Given the description of an element on the screen output the (x, y) to click on. 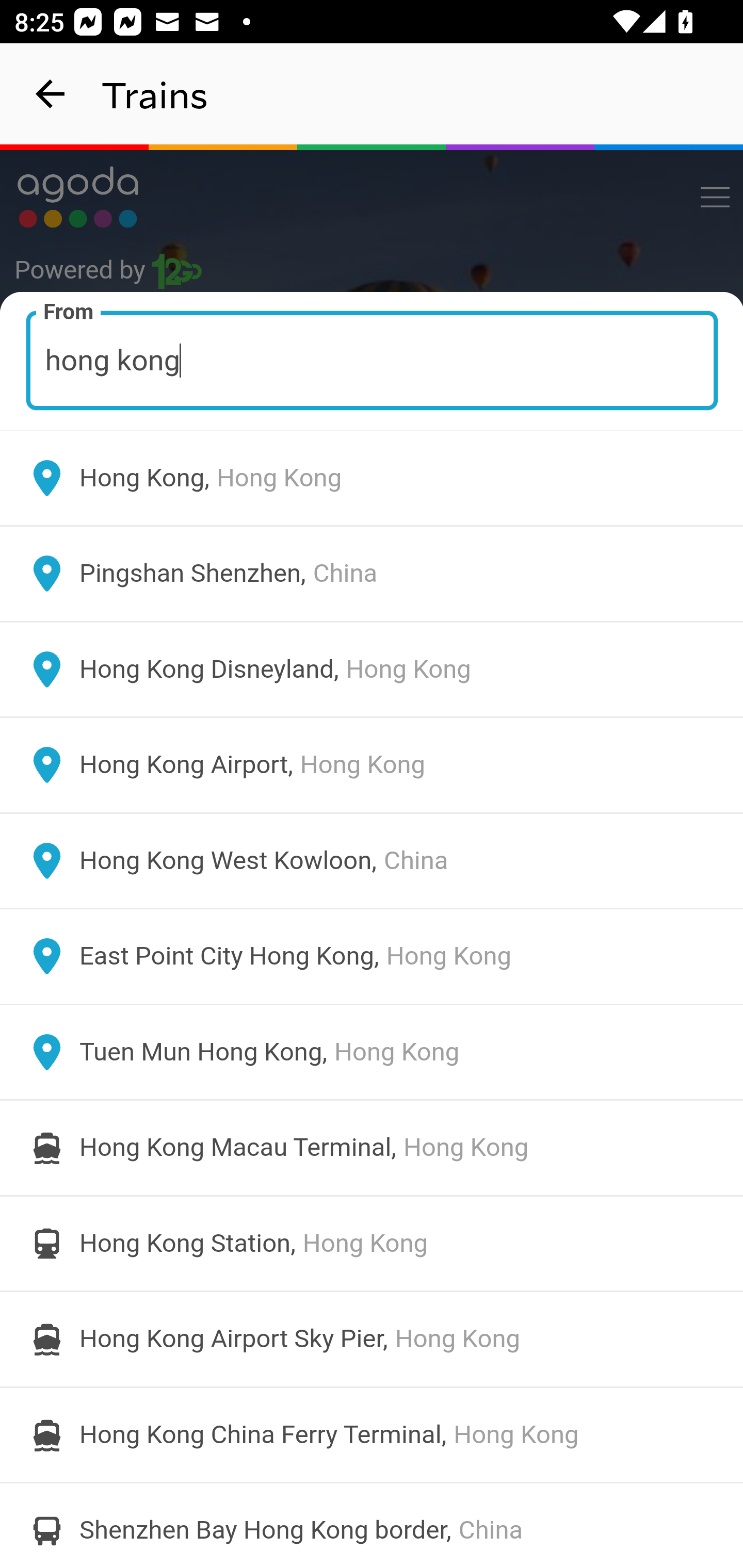
navigation_button (50, 93)
hong kong (372, 359)
Hong Kong,Hong Kong (371, 477)
Pingshan Shenzhen,China (371, 573)
Hong Kong Disneyland,Hong Kong (371, 669)
Hong Kong Airport,Hong Kong (371, 764)
Hong Kong West Kowloon,China (371, 860)
East Point City Hong Kong,Hong Kong (371, 956)
Tuen Mun Hong Kong,Hong Kong (371, 1051)
Hong Kong Macau Terminal,Hong Kong (371, 1147)
Hong Kong Station,Hong Kong (371, 1243)
Hong Kong Airport Sky Pier,Hong Kong (371, 1339)
Hong Kong China Ferry Terminal,Hong Kong (371, 1434)
Shenzhen Bay Hong Kong border,China (371, 1524)
